Given the description of an element on the screen output the (x, y) to click on. 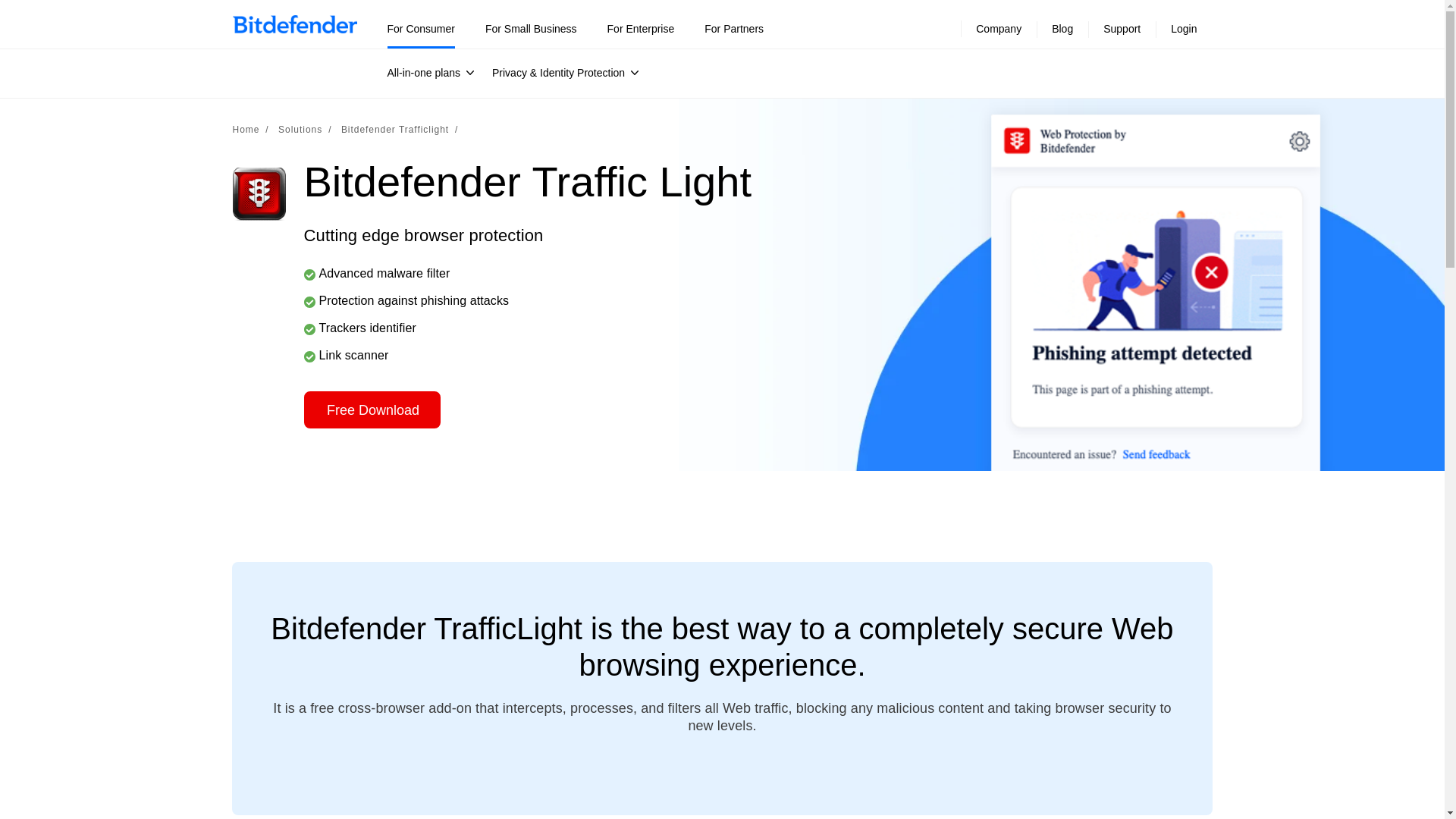
All-in-one plans (430, 72)
For Consumer (420, 29)
For Small Business (530, 29)
For Partners (733, 29)
Company (998, 29)
For Enterprise (641, 29)
